Given the description of an element on the screen output the (x, y) to click on. 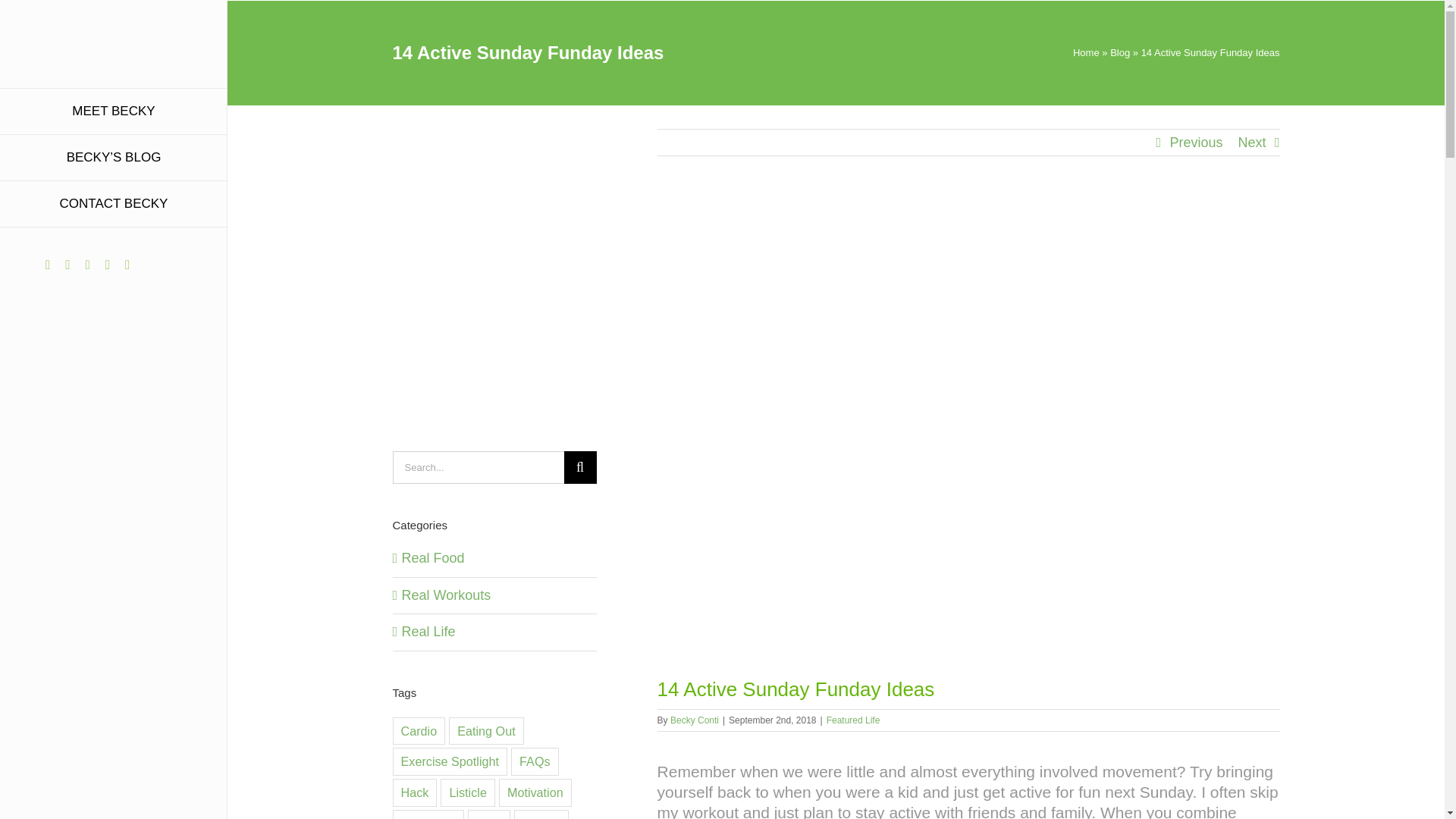
Previous (1196, 142)
LinkedIn (107, 264)
Becky Conti (694, 719)
LinkedIn (107, 264)
Twitter (127, 264)
Instagram (47, 264)
Home (1086, 52)
Blog (1119, 52)
Next (1251, 142)
YouTube (86, 264)
Instagram (47, 264)
Posts by Becky Conti (694, 719)
Featured Life (853, 719)
